Given the description of an element on the screen output the (x, y) to click on. 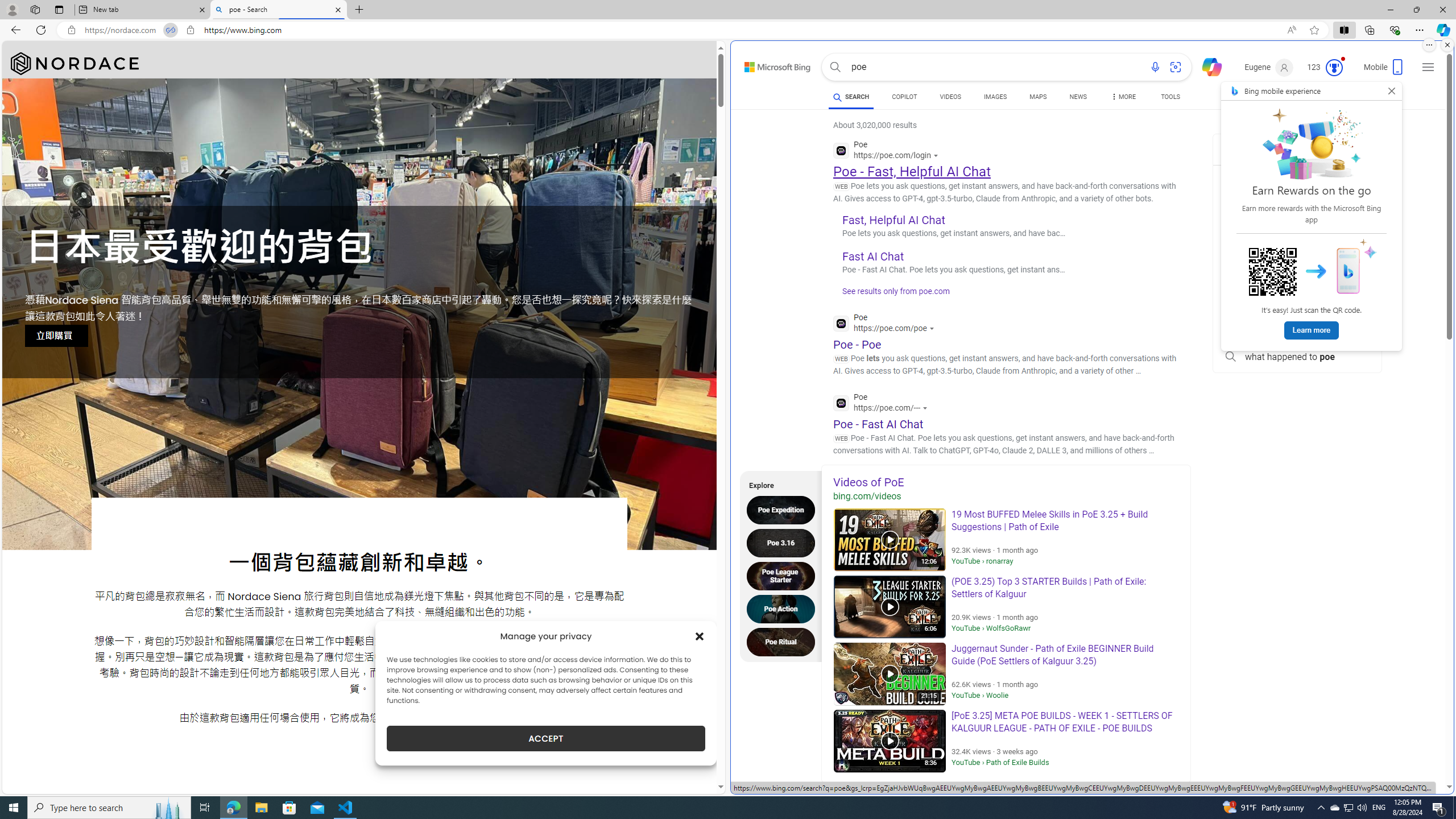
Class: medal-circled (1333, 67)
NEWS (1078, 98)
poe pc (1297, 280)
poes meaning (1297, 203)
Mobile (1384, 70)
Close split screen. (1447, 45)
Back to Bing search (770, 64)
Poe (882, 403)
